Given the description of an element on the screen output the (x, y) to click on. 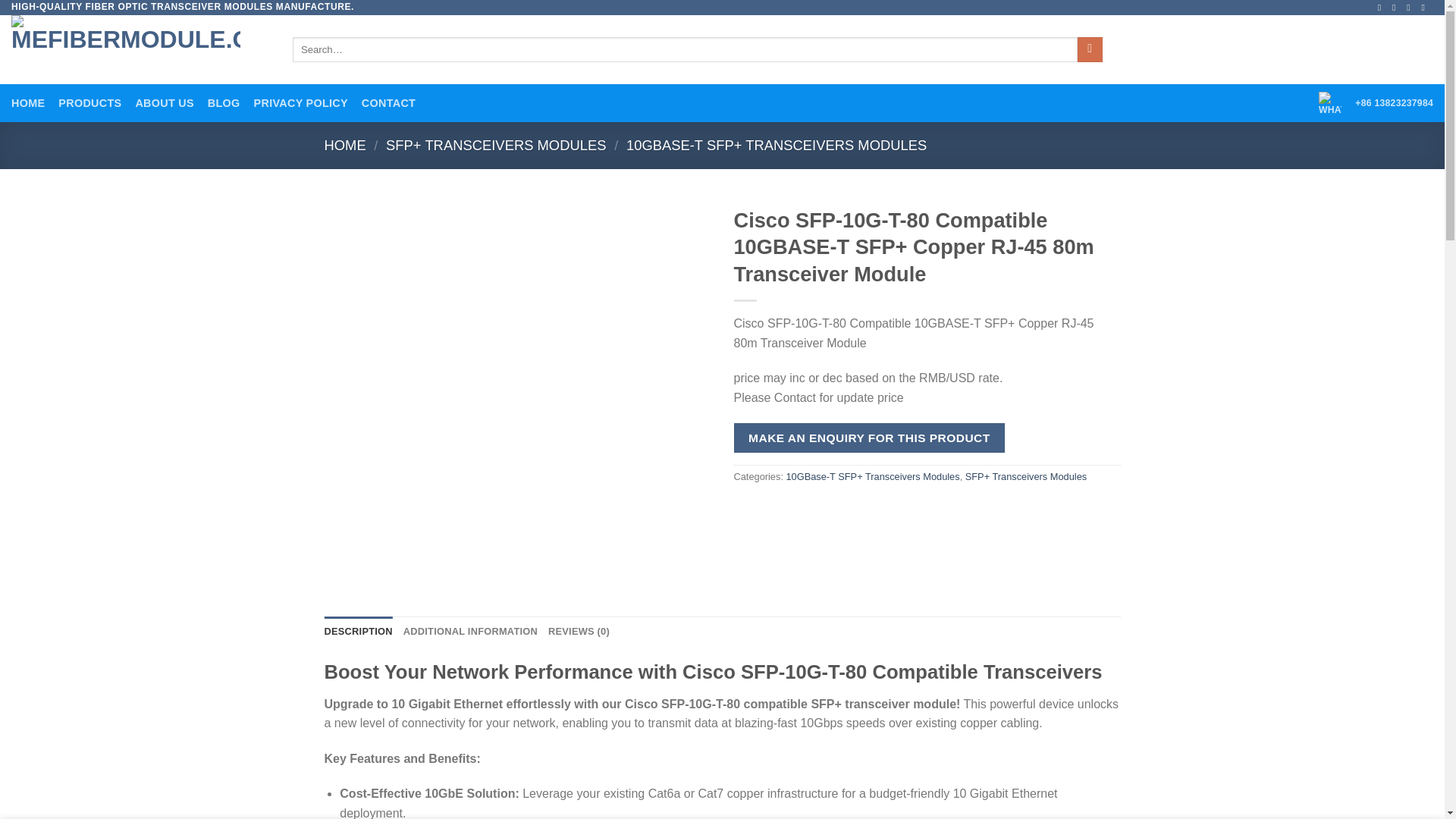
ABOUT US (164, 103)
Search (1089, 49)
HOME (28, 103)
PRODUCTS (89, 103)
HOME (345, 145)
BLOG (224, 103)
PRIVACY POLICY (300, 103)
CONTACT (387, 103)
Make an enquiry for this product (869, 437)
